Given the description of an element on the screen output the (x, y) to click on. 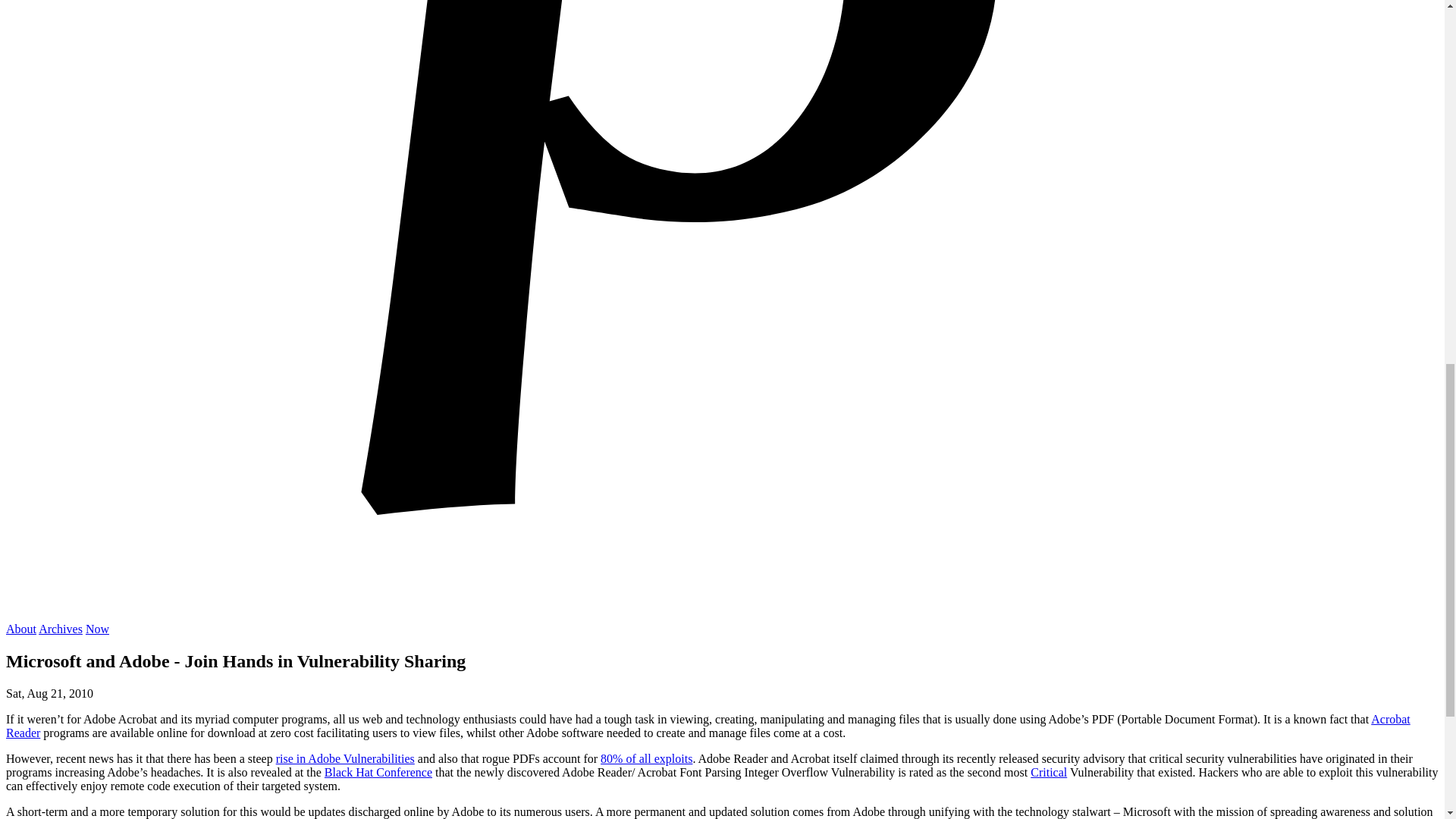
rise in Adobe Vulnerabilities (345, 758)
Acrobat Reader (707, 725)
Black Hat Conference (378, 771)
Now (97, 628)
About (20, 628)
Critical (1048, 771)
Archives (60, 628)
